Given the description of an element on the screen output the (x, y) to click on. 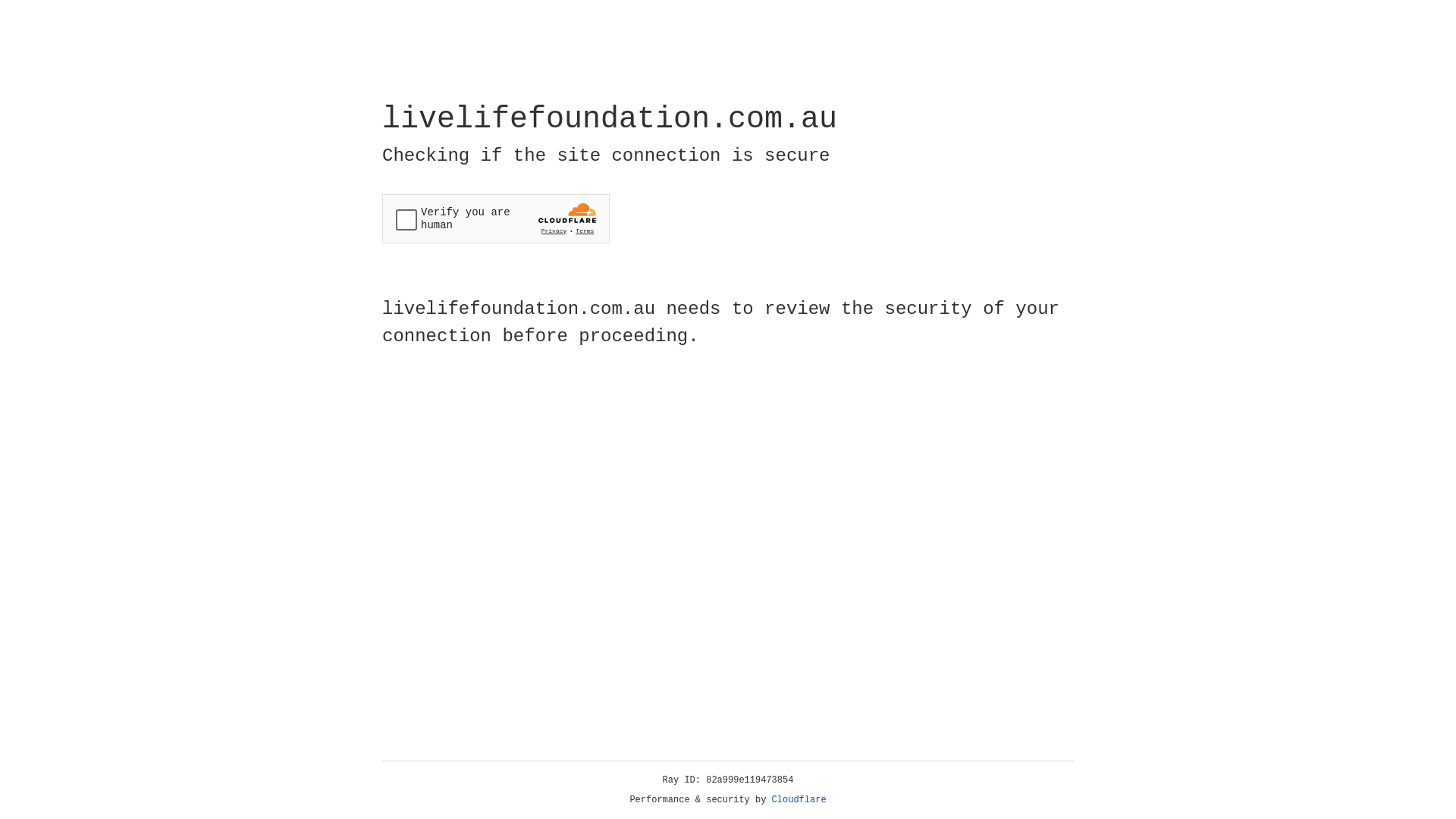
Widget containing a Cloudflare security challenge Element type: hover (495, 218)
Cloudflare Element type: text (798, 799)
